Given the description of an element on the screen output the (x, y) to click on. 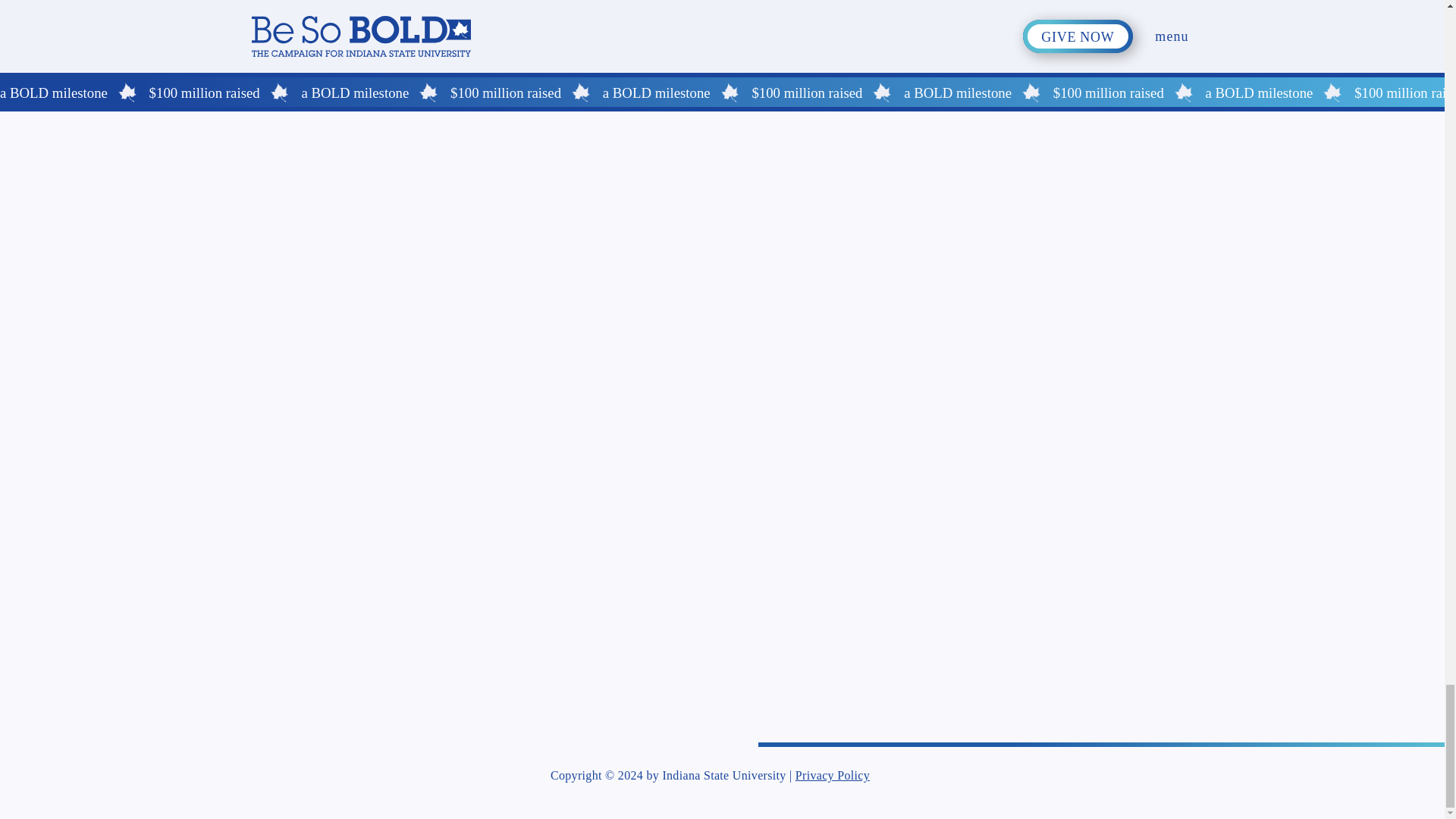
Privacy Policy (831, 775)
